Given the description of an element on the screen output the (x, y) to click on. 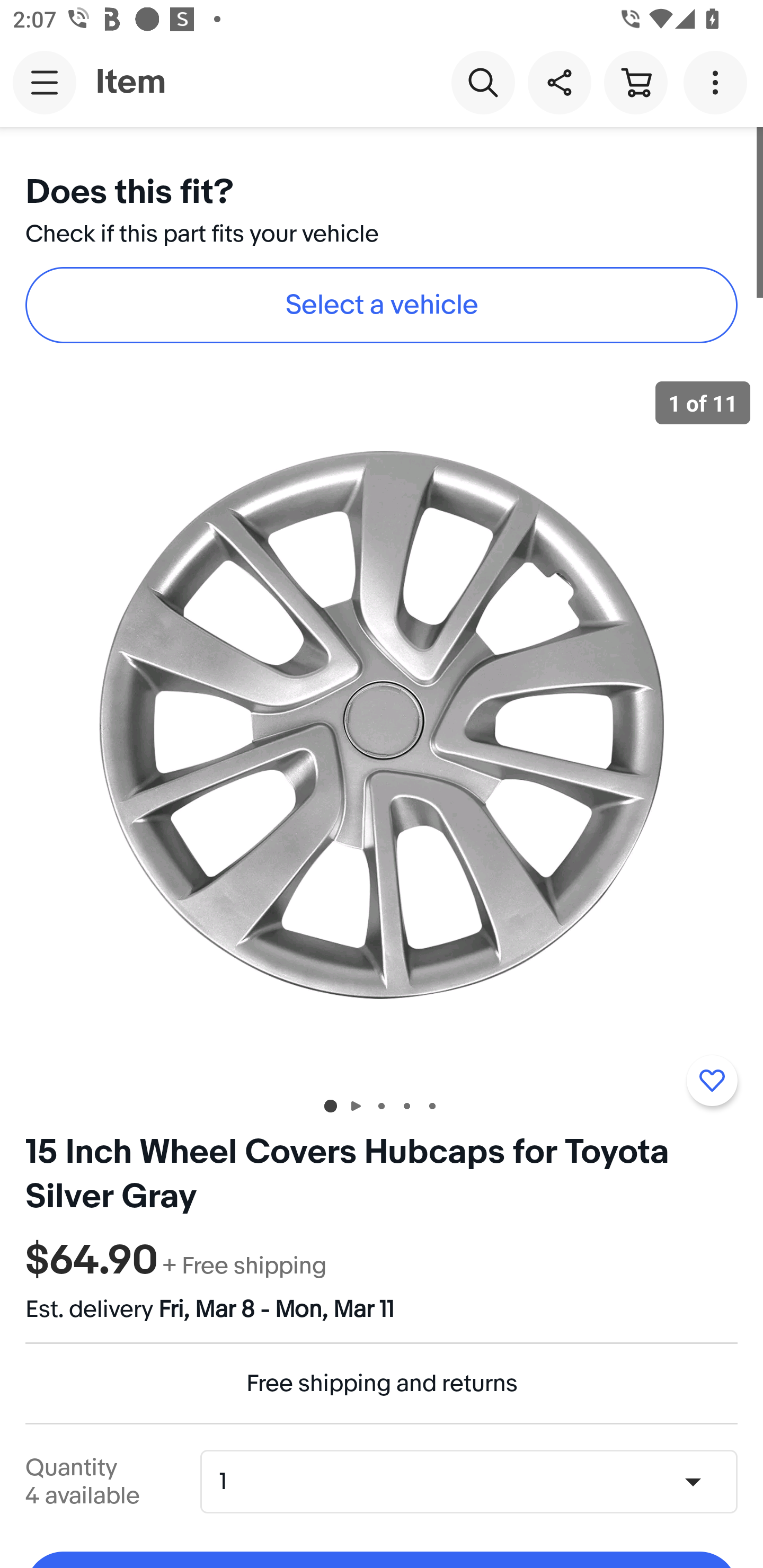
Main navigation, open (44, 82)
Search (482, 81)
Share this item (559, 81)
Cart button shopping cart (635, 81)
More options (718, 81)
Select a vehicle (381, 304)
Item image 1 of 11 (381, 724)
Add to watchlist (711, 1080)
Quantity,1,4 available 1 (474, 1481)
